Given the description of an element on the screen output the (x, y) to click on. 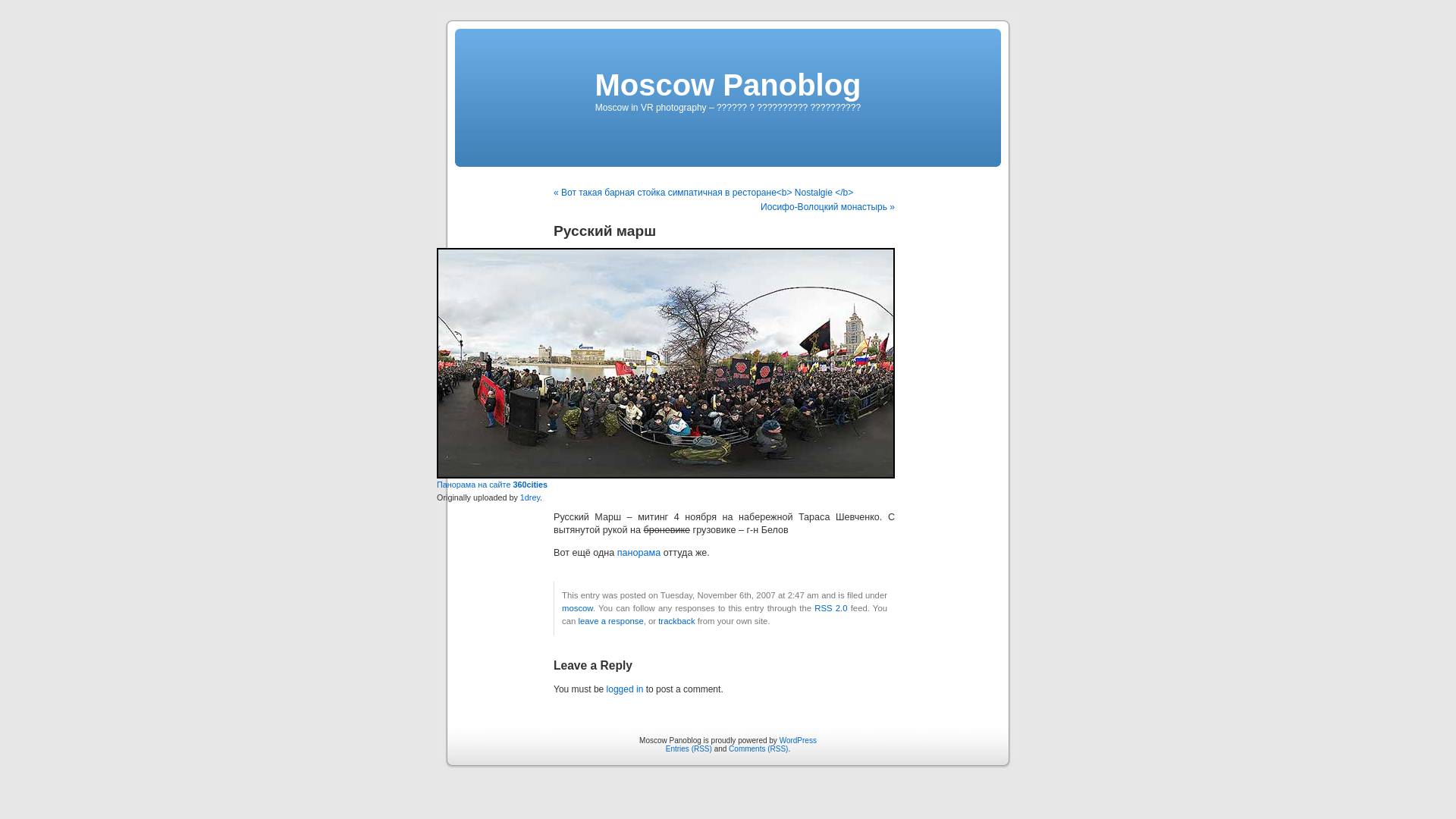
Entries (RSS) Element type: text (688, 748)
1drey Element type: text (529, 497)
Moscow Panoblog Element type: text (727, 84)
moscow Element type: text (577, 607)
leave a response Element type: text (610, 620)
RSS 2.0 Element type: text (830, 607)
trackback Element type: text (676, 620)
Comments (RSS) Element type: text (757, 748)
logged in Element type: text (624, 689)
WordPress Element type: text (797, 740)
